Given the description of an element on the screen output the (x, y) to click on. 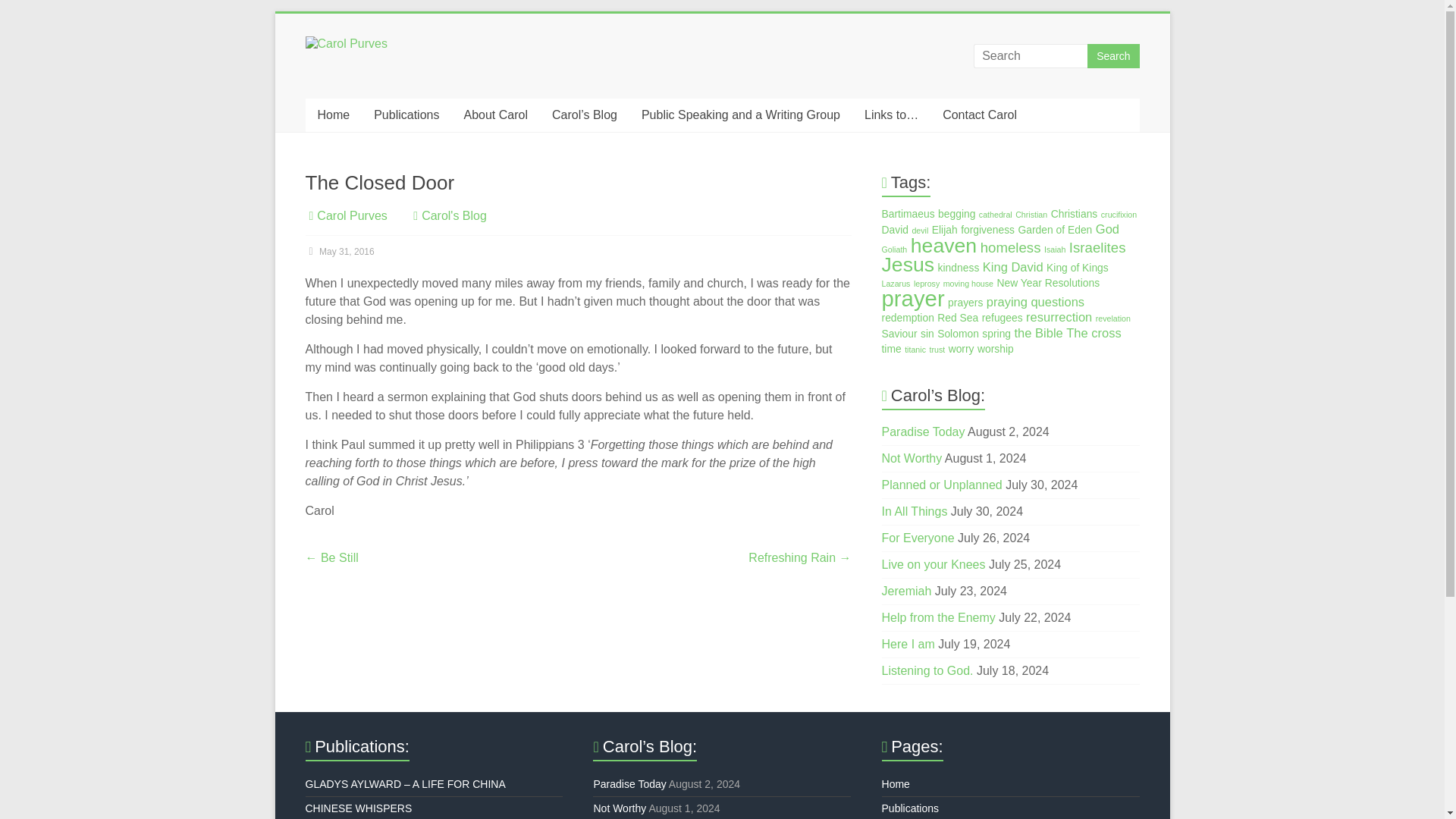
Elijah (944, 229)
King David (1012, 267)
9:16 am (339, 251)
Home (332, 114)
Garden of Eden (1054, 229)
moving house (967, 283)
homeless (1010, 247)
Contact Carol (979, 114)
Carol Purves (347, 70)
